Given the description of an element on the screen output the (x, y) to click on. 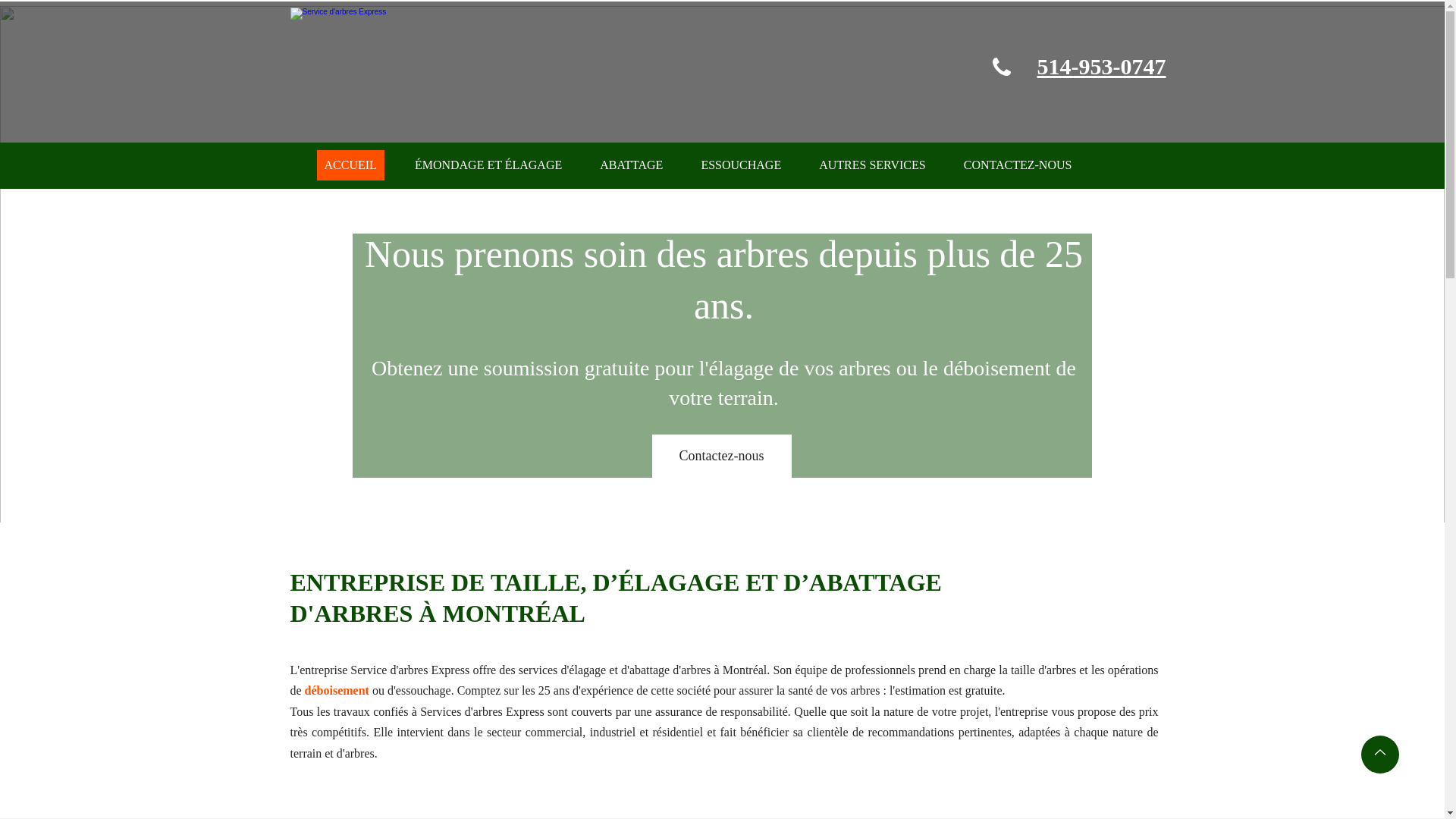
CONTACTEZ-NOUS Element type: text (1017, 165)
ACCUEIL Element type: text (350, 165)
ABATTAGE Element type: text (631, 165)
Contactez-nous Element type: text (721, 455)
514-953-0747 Element type: text (1101, 65)
ESSOUCHAGE Element type: text (740, 165)
